Given the description of an element on the screen output the (x, y) to click on. 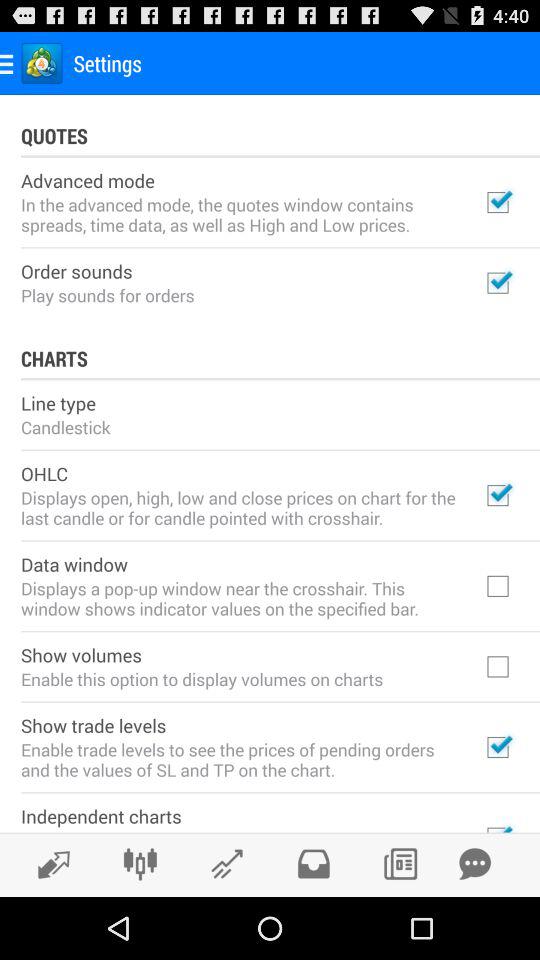
open messages/notifications (475, 864)
